Given the description of an element on the screen output the (x, y) to click on. 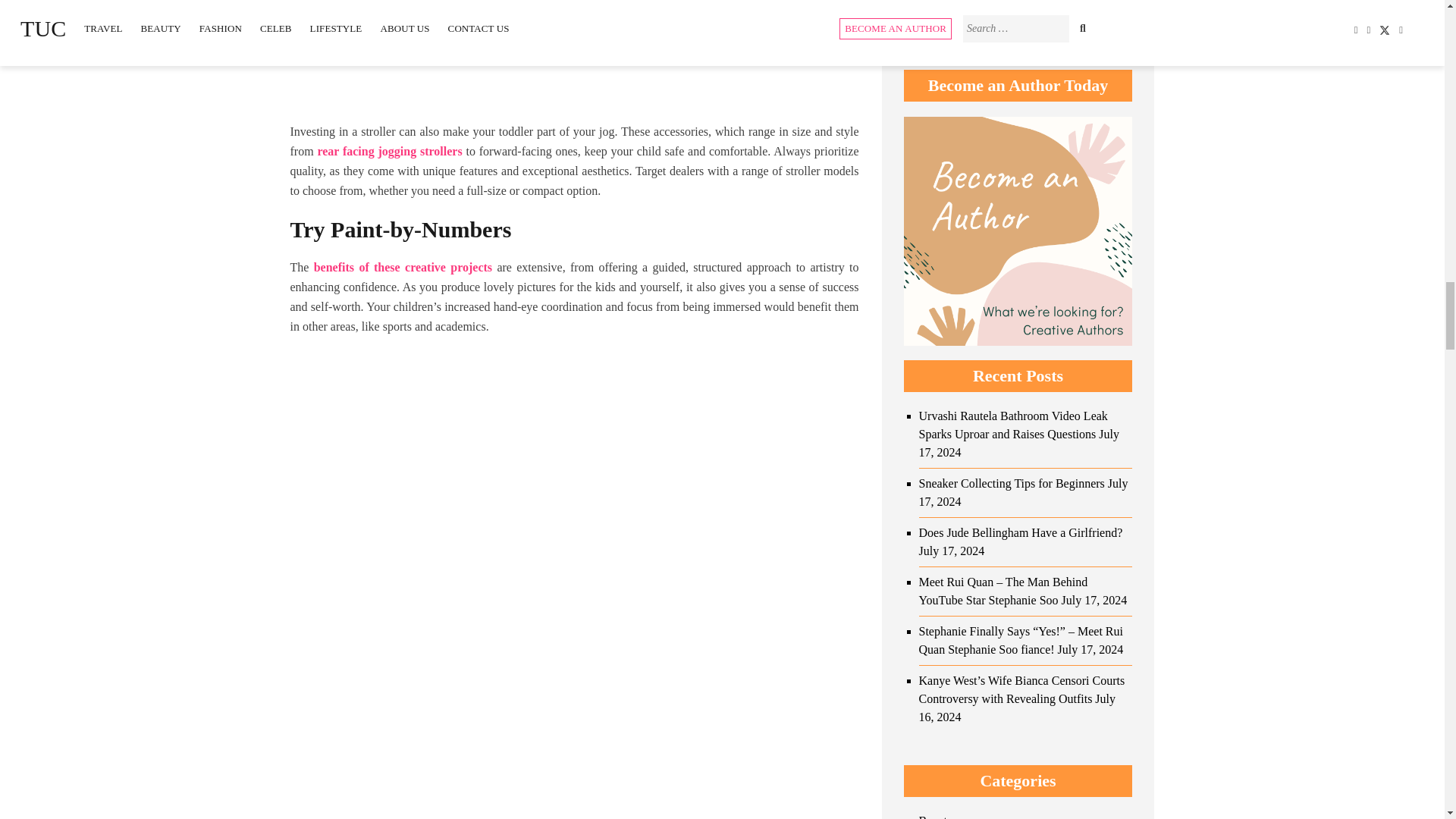
benefits of these creative projects (403, 267)
Advertisement (574, 61)
rear facing jogging strollers (389, 151)
